Given the description of an element on the screen output the (x, y) to click on. 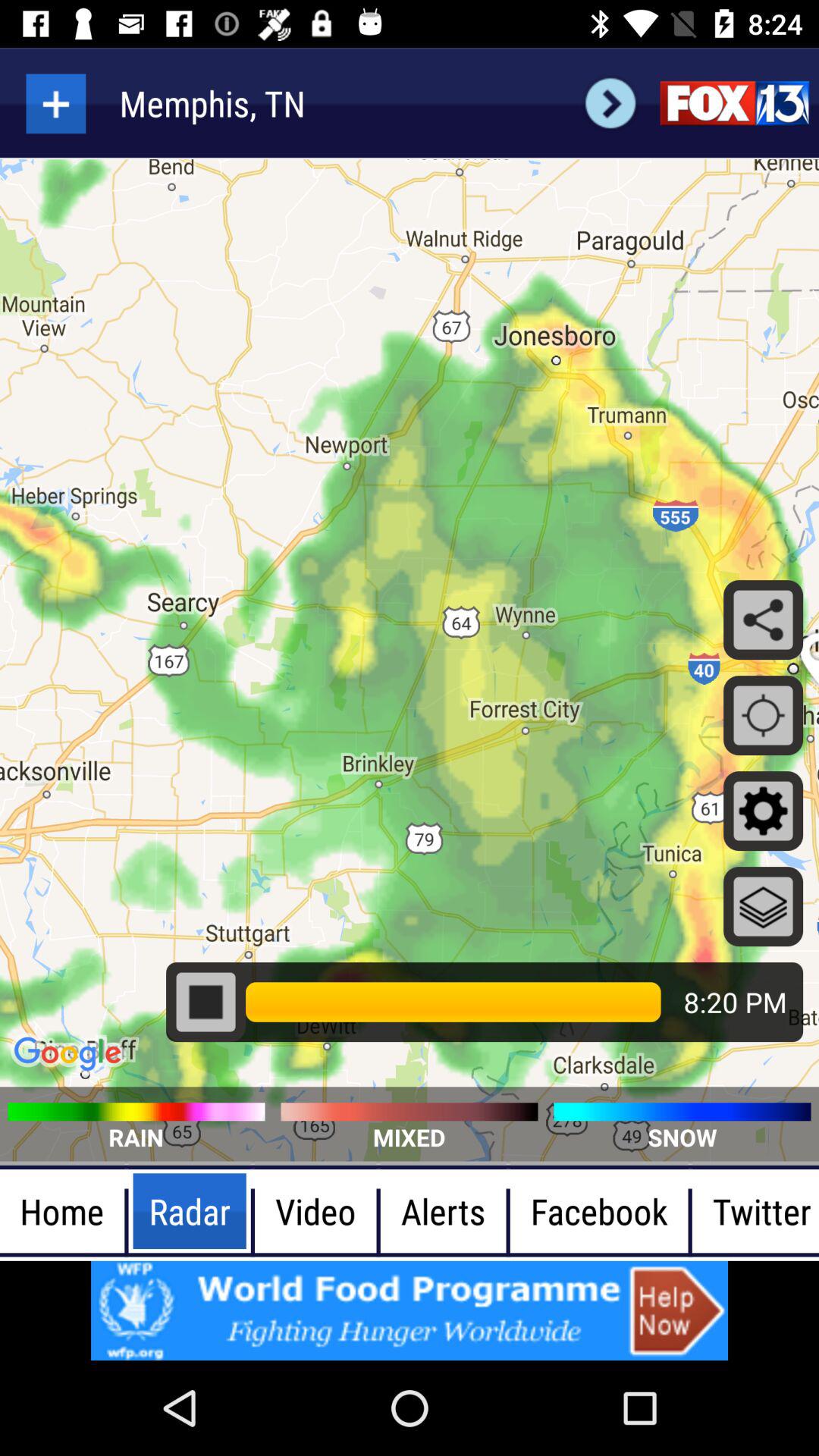
search (610, 103)
